Given the description of an element on the screen output the (x, y) to click on. 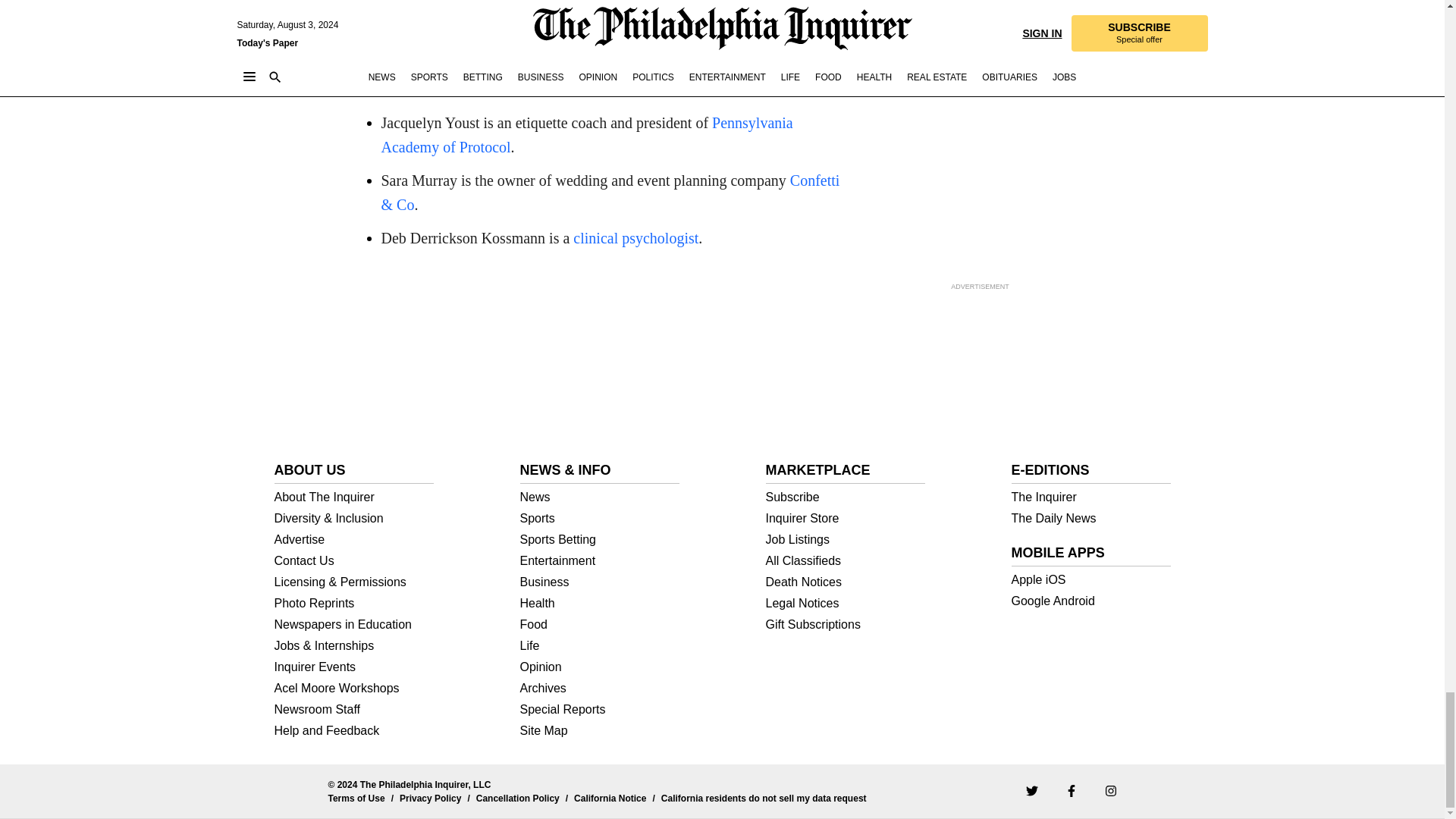
Facebook (1070, 790)
Instagram (1109, 790)
Twitter (1030, 790)
